Given the description of an element on the screen output the (x, y) to click on. 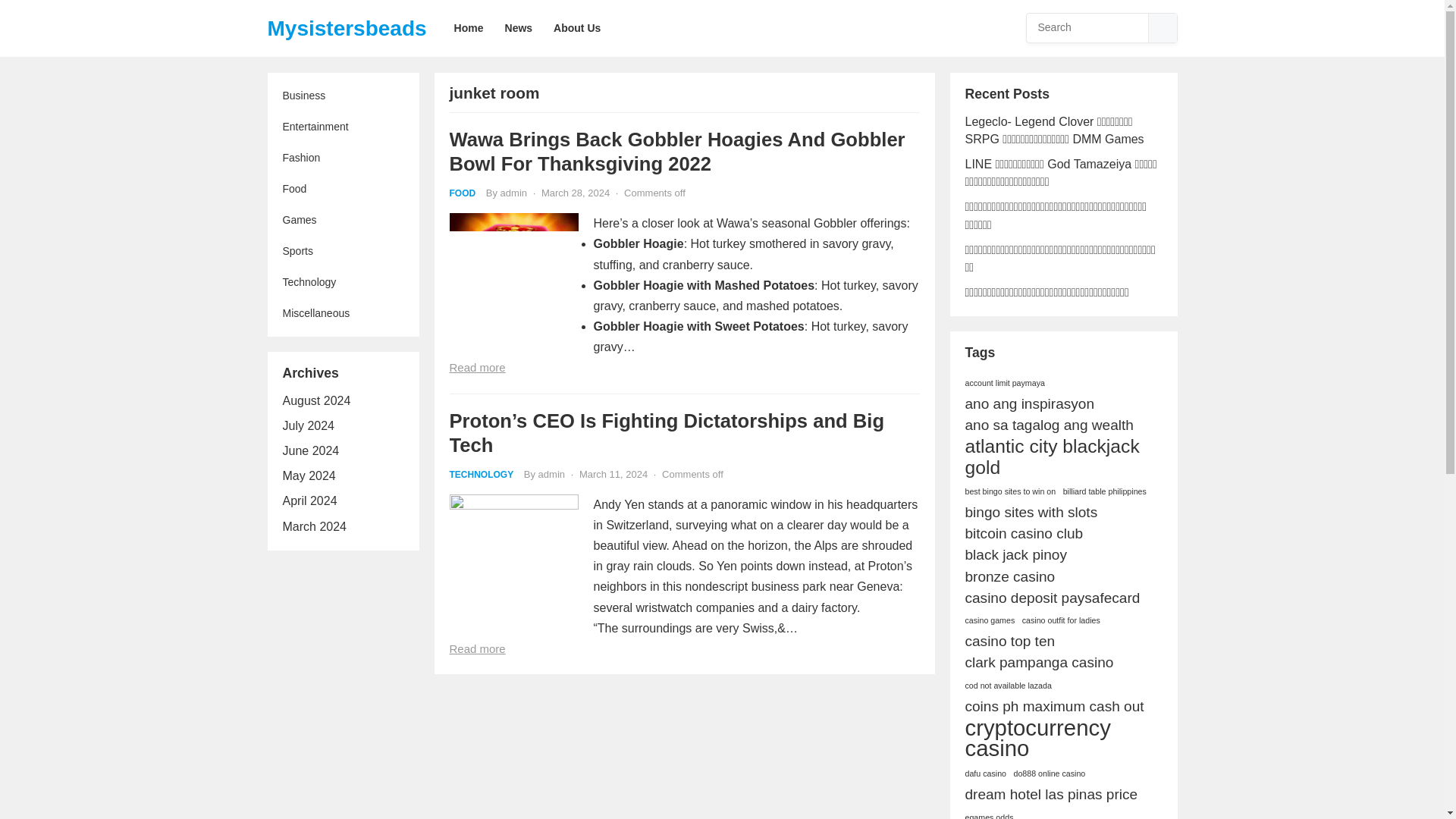
Fashion (342, 157)
About Us (577, 28)
Games (342, 219)
Entertainment (342, 126)
Mysistersbeads (346, 28)
March 2024 (314, 526)
July 2024 (308, 425)
April 2024 (309, 500)
FOOD (462, 193)
Miscellaneous (342, 313)
